Given the description of an element on the screen output the (x, y) to click on. 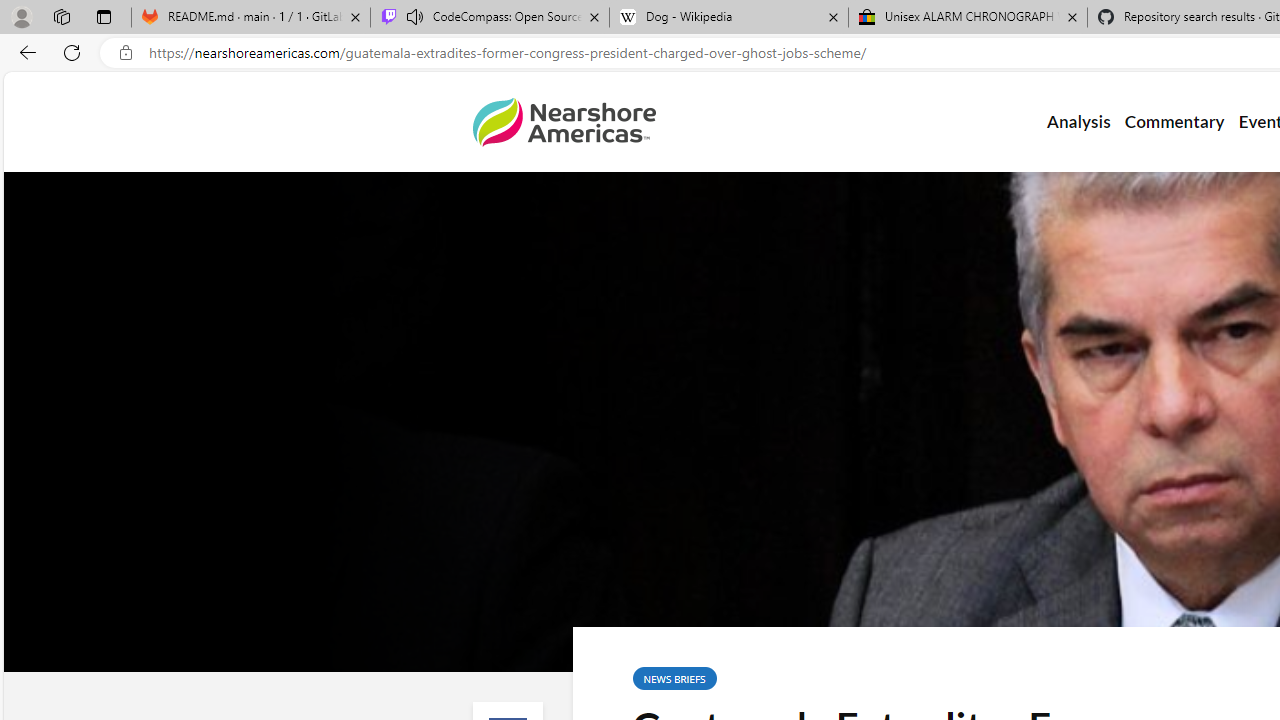
Commentary (1174, 121)
Analysis (1078, 121)
NEWS BRIEFS (674, 677)
Mute tab (414, 16)
Analysis (1078, 121)
Nearshore Americas (563, 121)
